Given the description of an element on the screen output the (x, y) to click on. 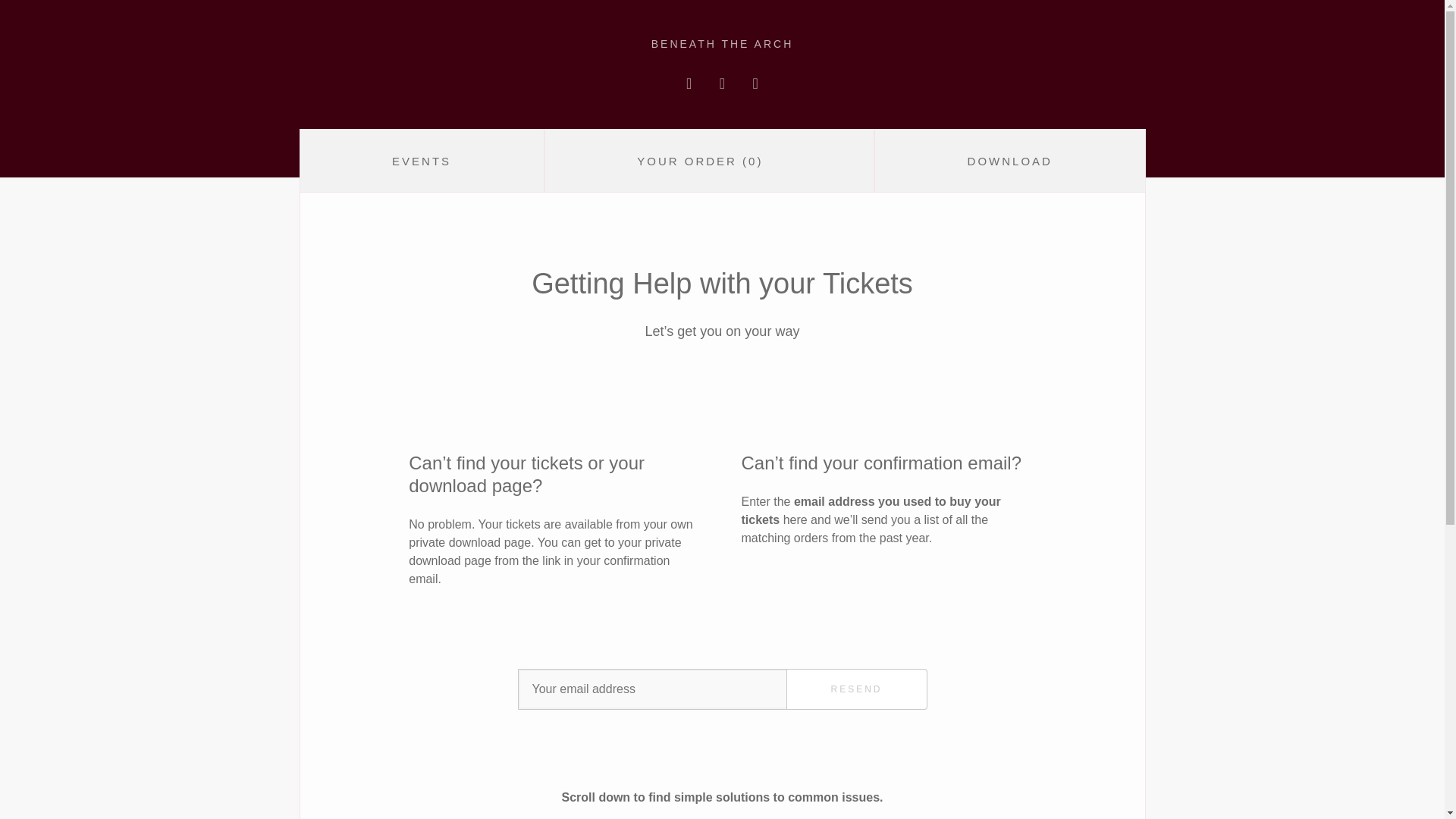
EVENTS (420, 160)
BENEATH THE ARCH (721, 43)
RESEND (856, 689)
